Given the description of an element on the screen output the (x, y) to click on. 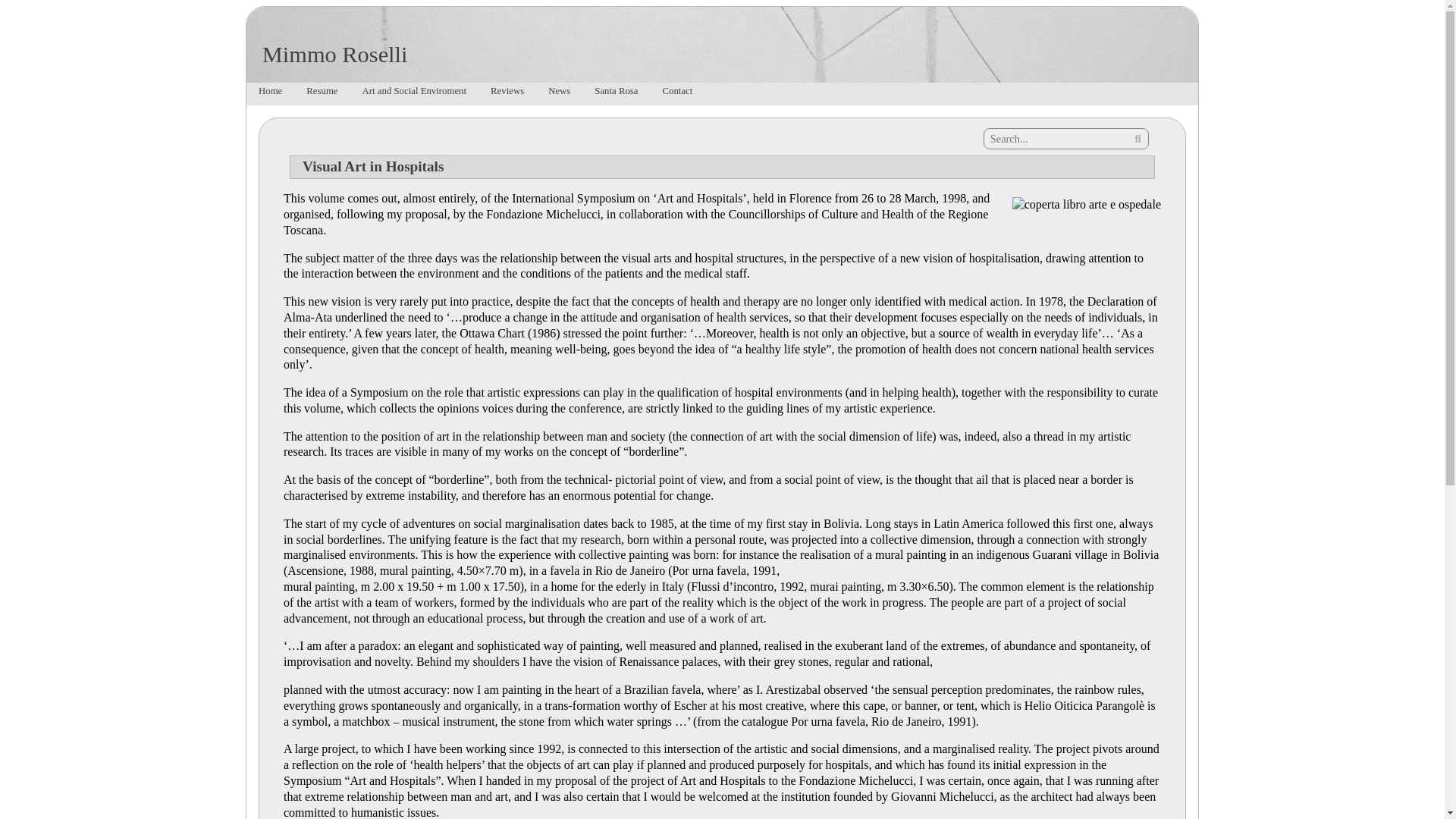
Contact (677, 93)
News (558, 93)
Home (270, 93)
Art and Social Enviroment (414, 93)
Reviews (507, 93)
Santa Rosa (615, 93)
Resume (321, 93)
